Given the description of an element on the screen output the (x, y) to click on. 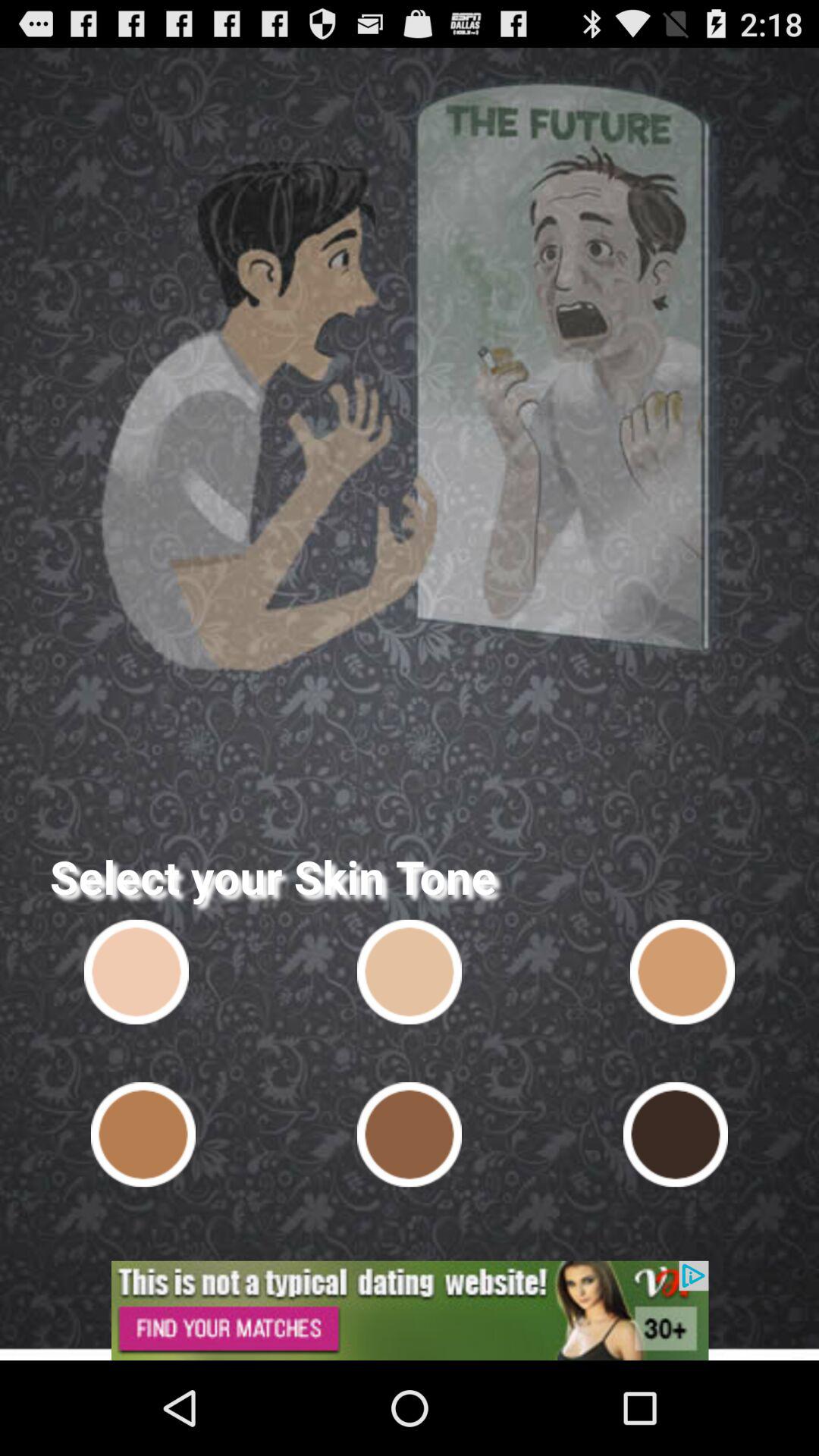
choose shade of color preferred (143, 1134)
